Given the description of an element on the screen output the (x, y) to click on. 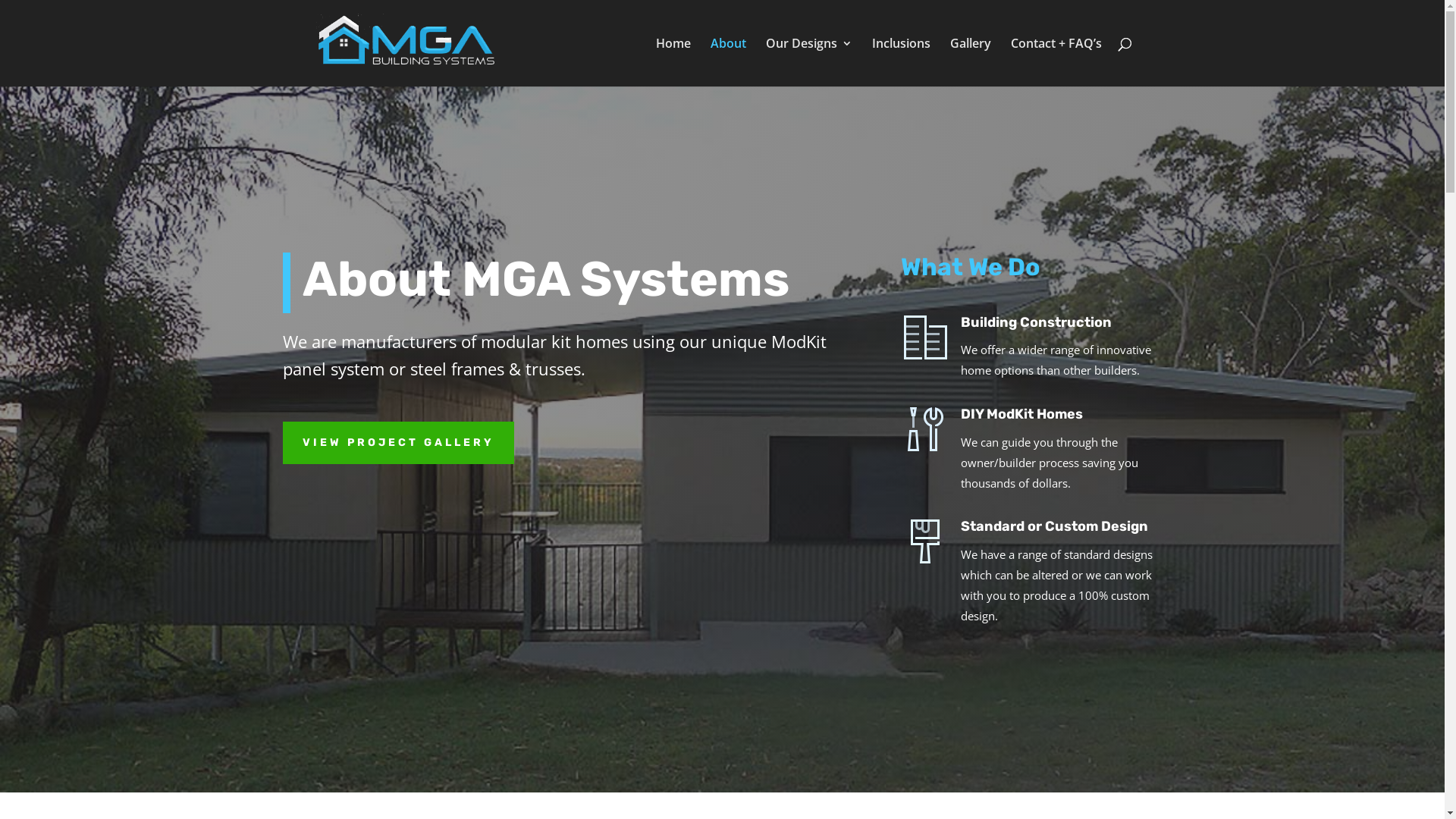
VIEW PROJECT GALLERY Element type: text (397, 442)
Inclusions Element type: text (901, 61)
Home Element type: text (672, 61)
About Element type: text (727, 61)
Gallery Element type: text (969, 61)
Our Designs Element type: text (808, 61)
